Given the description of an element on the screen output the (x, y) to click on. 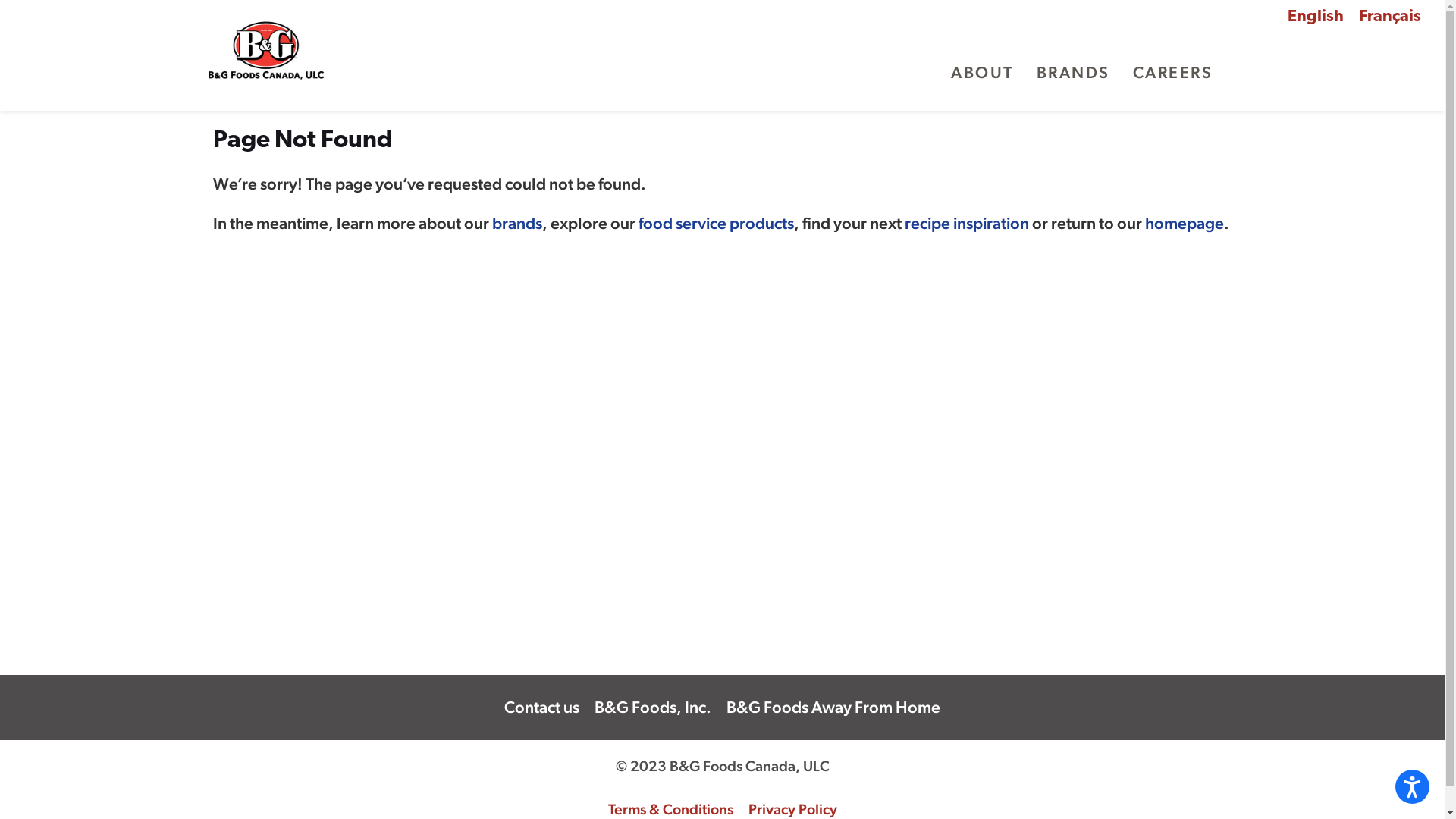
B&G Foods Away From Home Element type: text (833, 707)
B&G Foods, Inc. Element type: text (652, 707)
CAREERS Element type: text (1176, 72)
BRANDS Element type: text (1076, 72)
recipe inspiration Element type: text (966, 222)
Contact us Element type: text (541, 707)
food service products Element type: text (715, 222)
homepage Element type: text (1184, 222)
ABOUT Element type: text (985, 72)
brands Element type: text (517, 222)
English Element type: text (1315, 17)
